Given the description of an element on the screen output the (x, y) to click on. 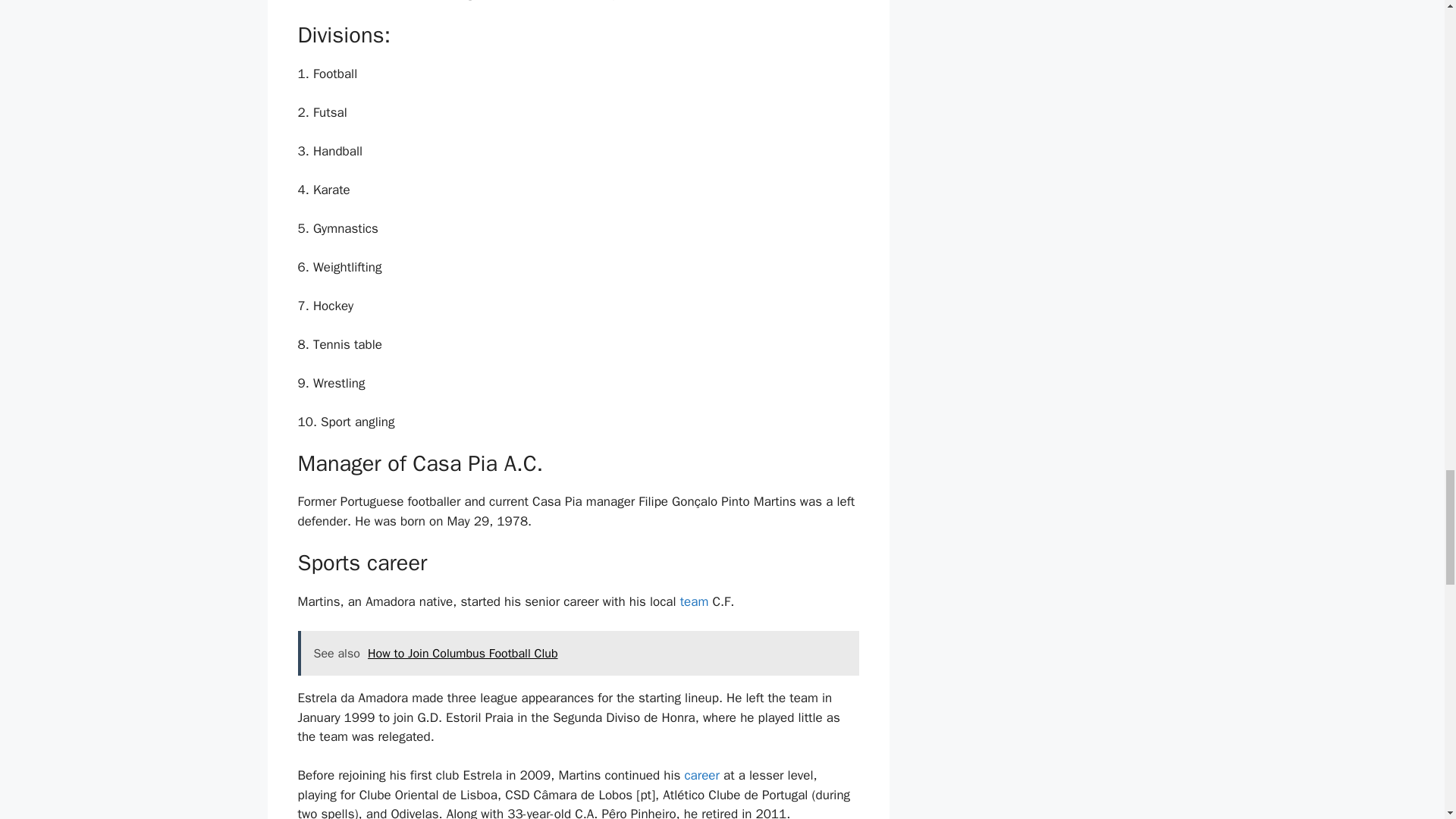
team (694, 601)
career (703, 774)
See also  How to Join Columbus Football Club (578, 653)
